Given the description of an element on the screen output the (x, y) to click on. 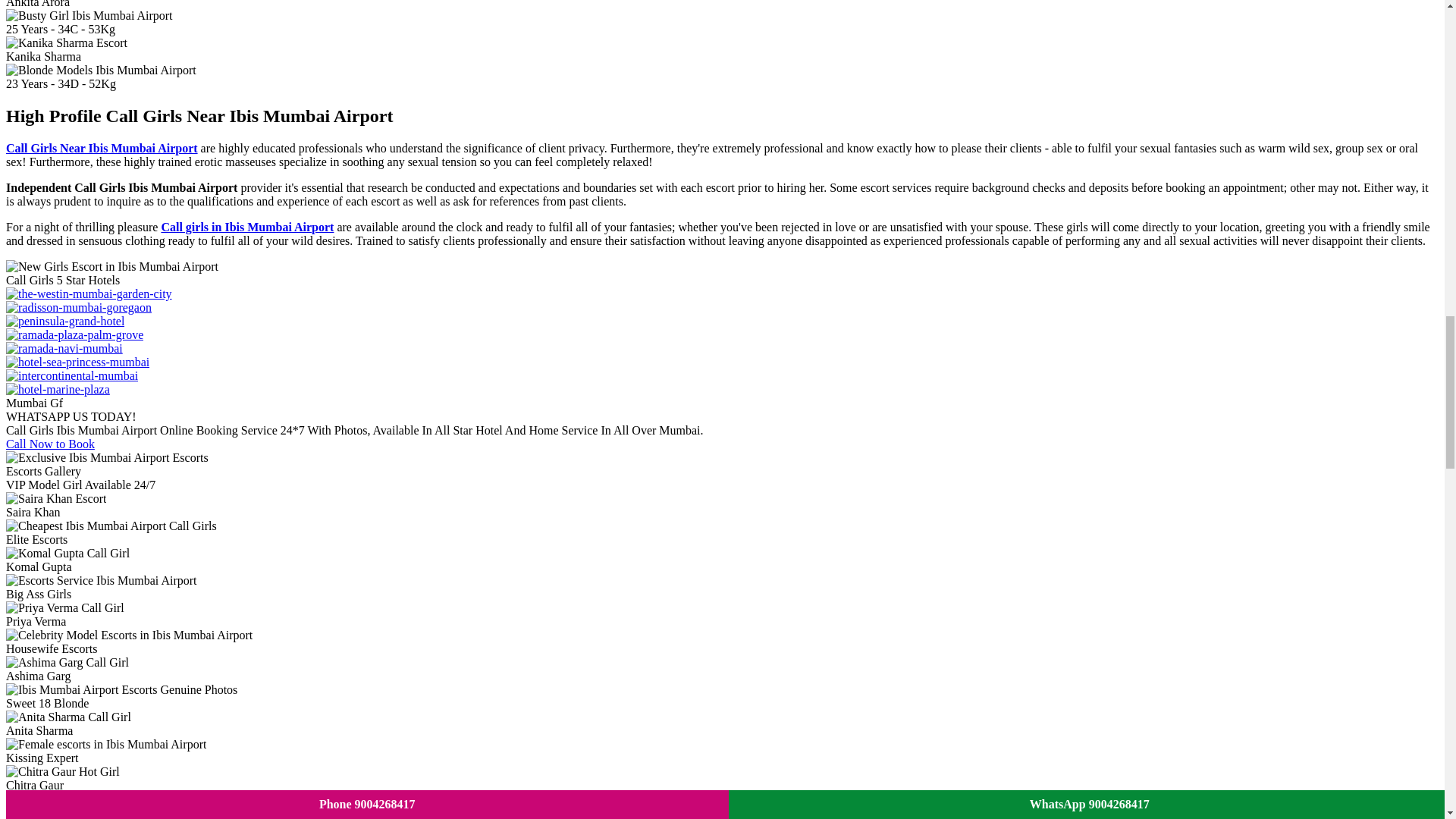
Call girls in Ibis Mumbai Airport (246, 226)
Call Now to Book (49, 443)
Call Girls Near Ibis Mumbai Airport (101, 147)
